Given the description of an element on the screen output the (x, y) to click on. 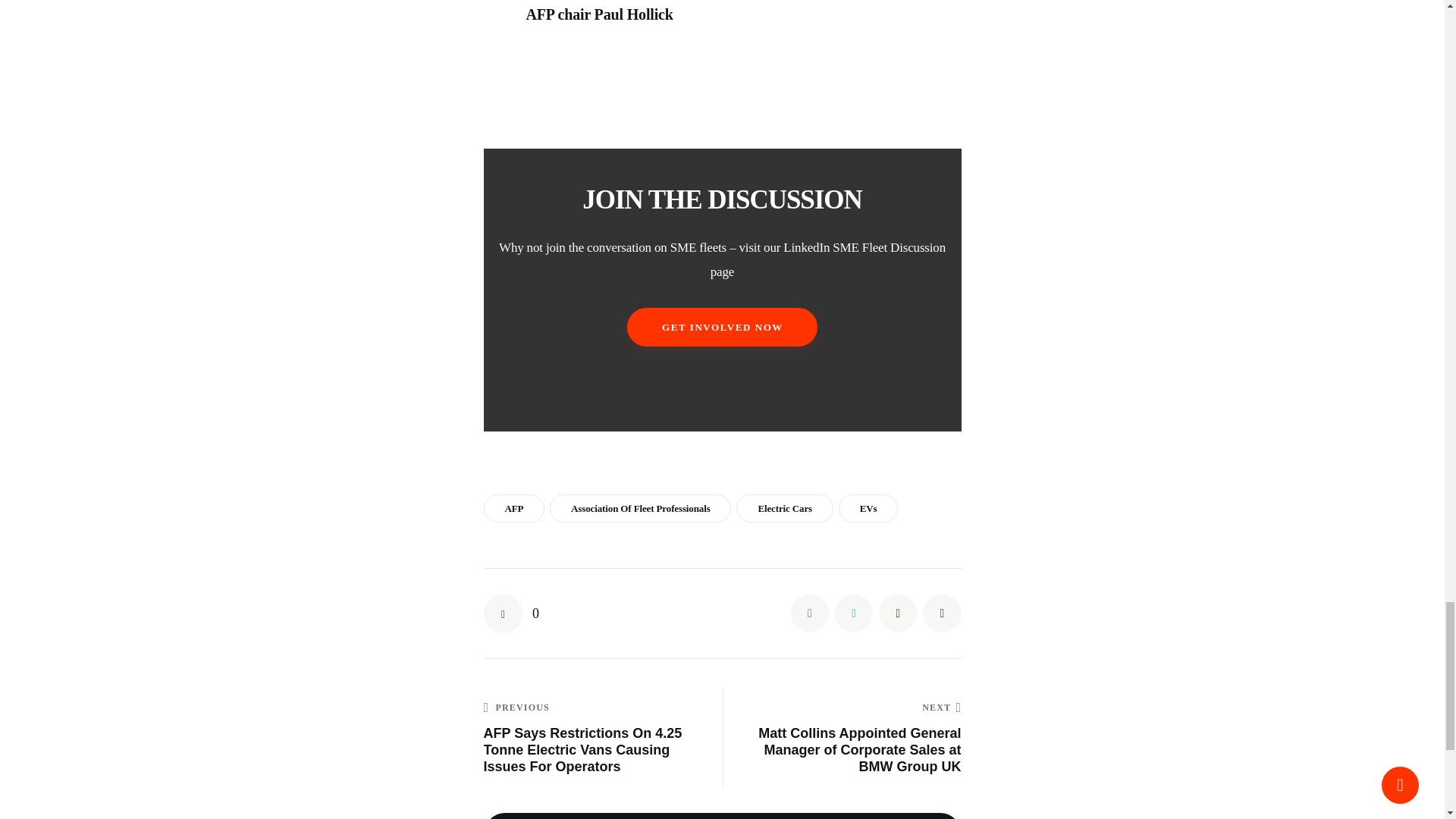
Like (511, 613)
Copy URL to clipboard (941, 613)
